Given the description of an element on the screen output the (x, y) to click on. 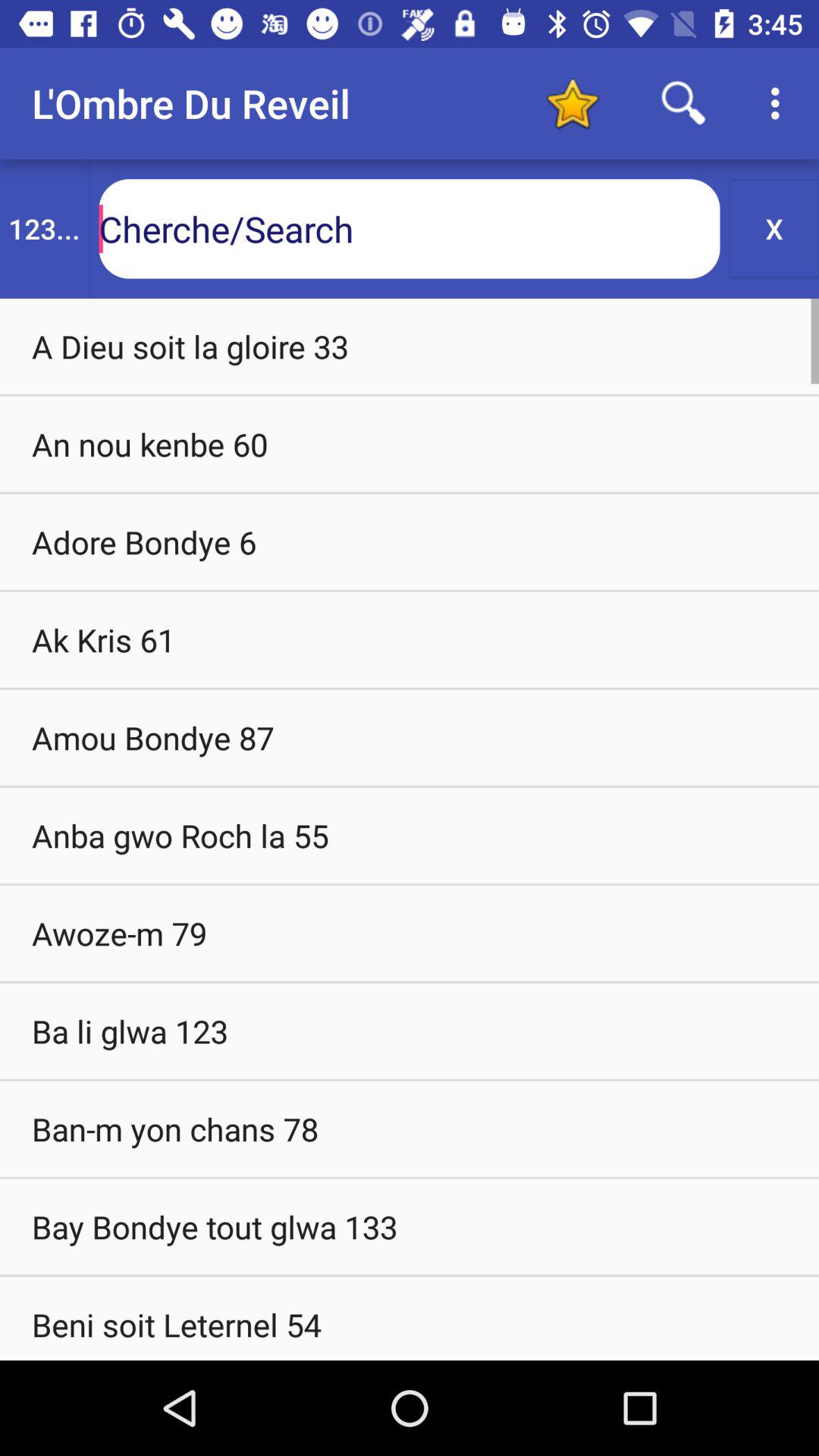
choose icon below the bay bondye tout icon (409, 1318)
